Given the description of an element on the screen output the (x, y) to click on. 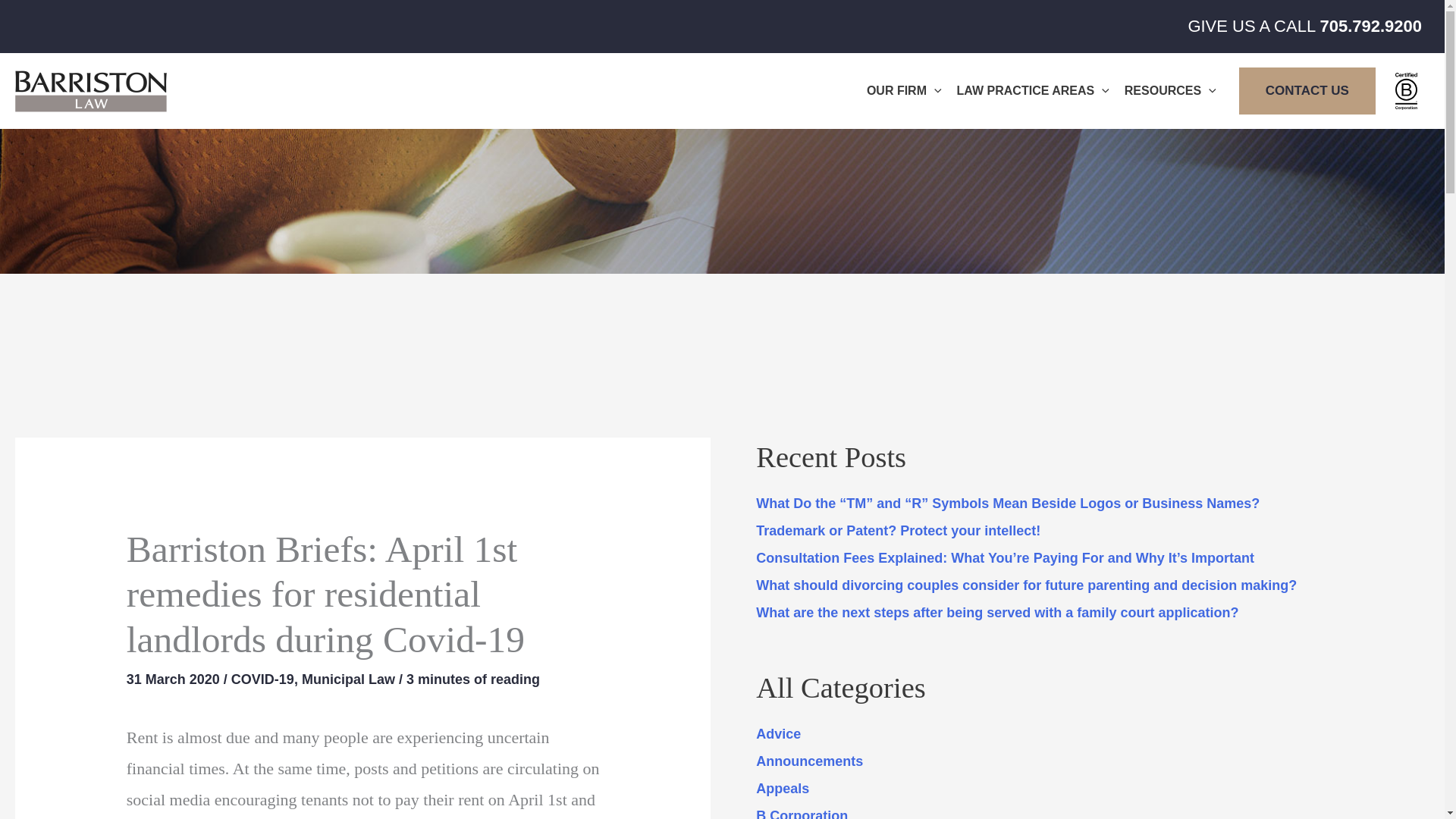
OUR FIRM (904, 90)
CONTACT US (1307, 90)
RESOURCES (1170, 90)
LAW PRACTICE AREAS (1032, 90)
705.792.9200 (1370, 26)
